Given the description of an element on the screen output the (x, y) to click on. 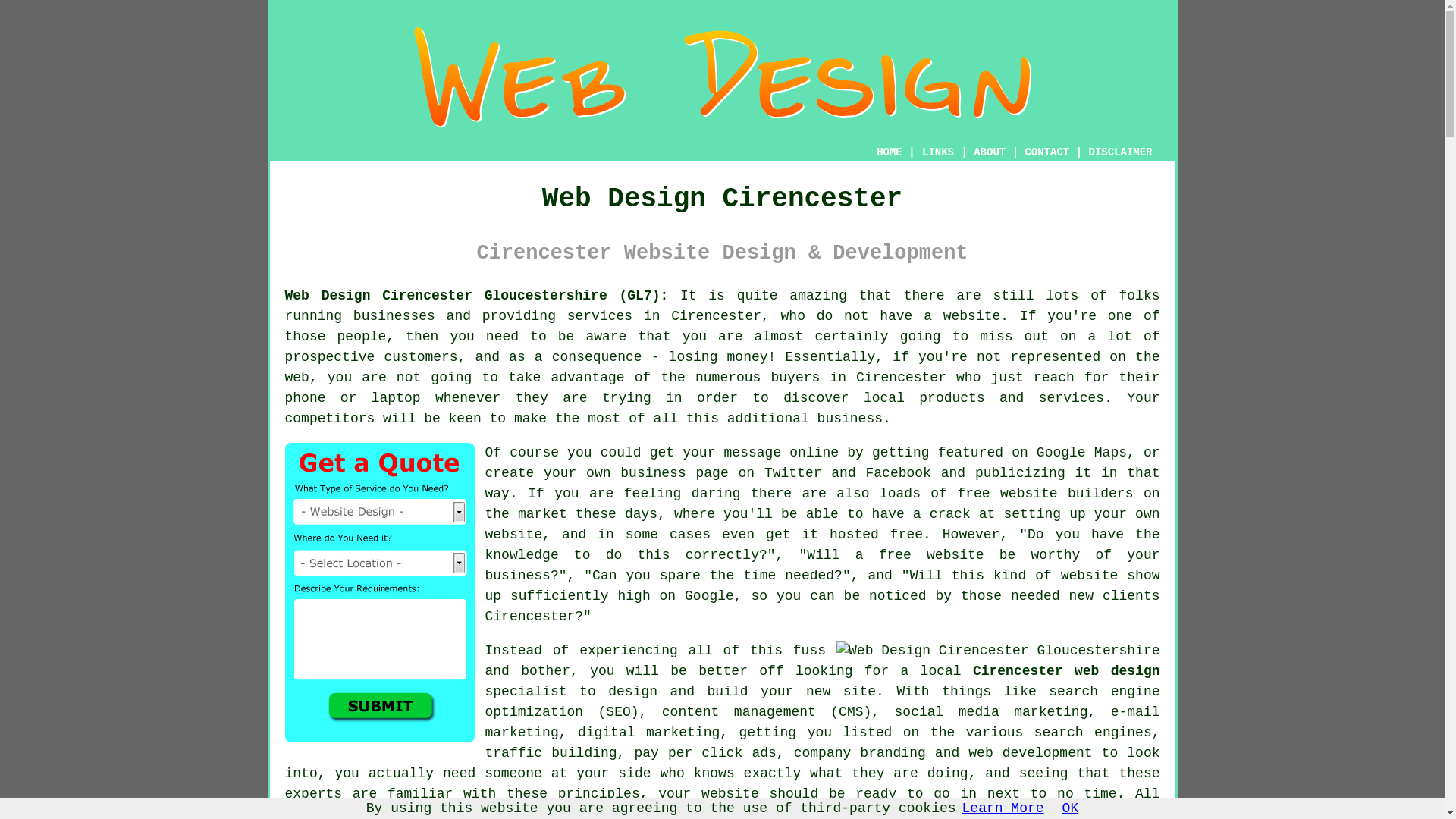
website (1089, 575)
website (972, 315)
Web Design Cirencester Gloucestershire (996, 650)
HOME (889, 152)
Web Design Cirencester (721, 77)
new site (841, 691)
Cirencester web design (1066, 670)
LINKS (938, 151)
